Given the description of an element on the screen output the (x, y) to click on. 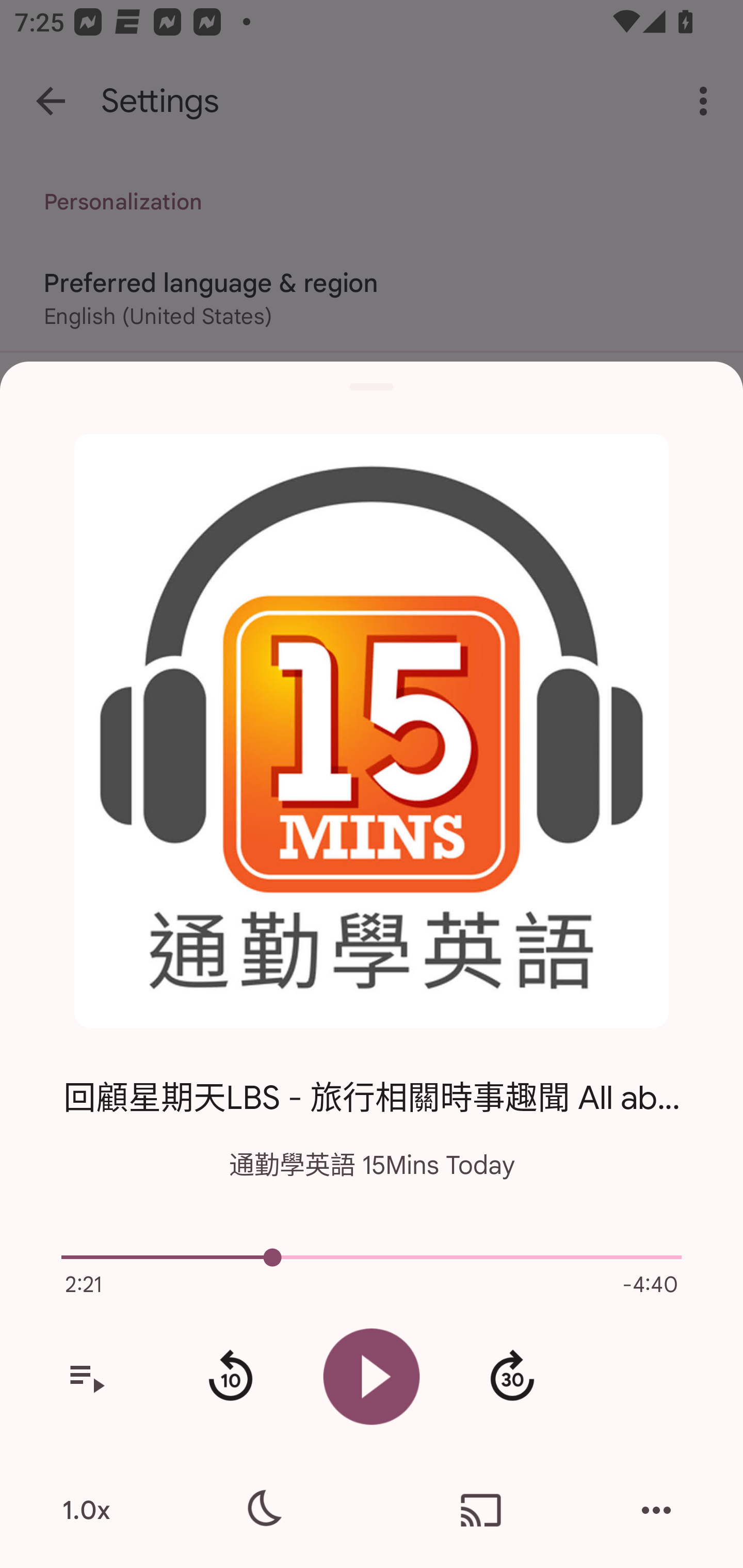
Open the show page for 通勤學英語 15Mins Today (371, 731)
3354.0 Current episode playback (371, 1257)
Play (371, 1376)
View your queue (86, 1376)
Rewind 10 seconds (230, 1376)
Fast forward 30 second (511, 1376)
1.0x Playback speed is 1.0. (86, 1510)
Sleep timer settings (261, 1510)
Cast. Disconnected (480, 1510)
More actions (655, 1510)
